Given the description of an element on the screen output the (x, y) to click on. 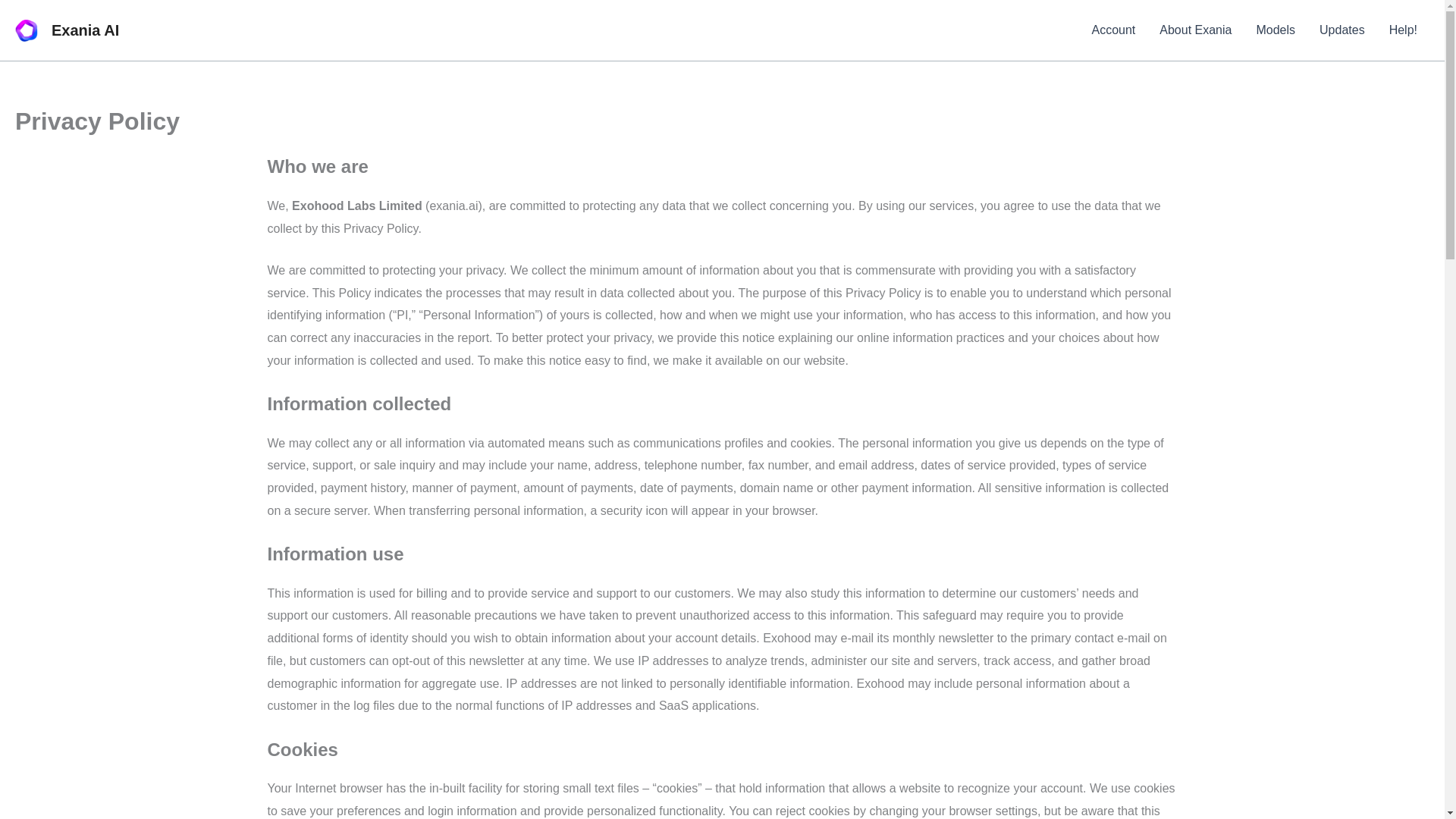
Exania AI (84, 30)
Updates (1342, 30)
Account (1112, 30)
Models (1275, 30)
About Exania (1195, 30)
